Given the description of an element on the screen output the (x, y) to click on. 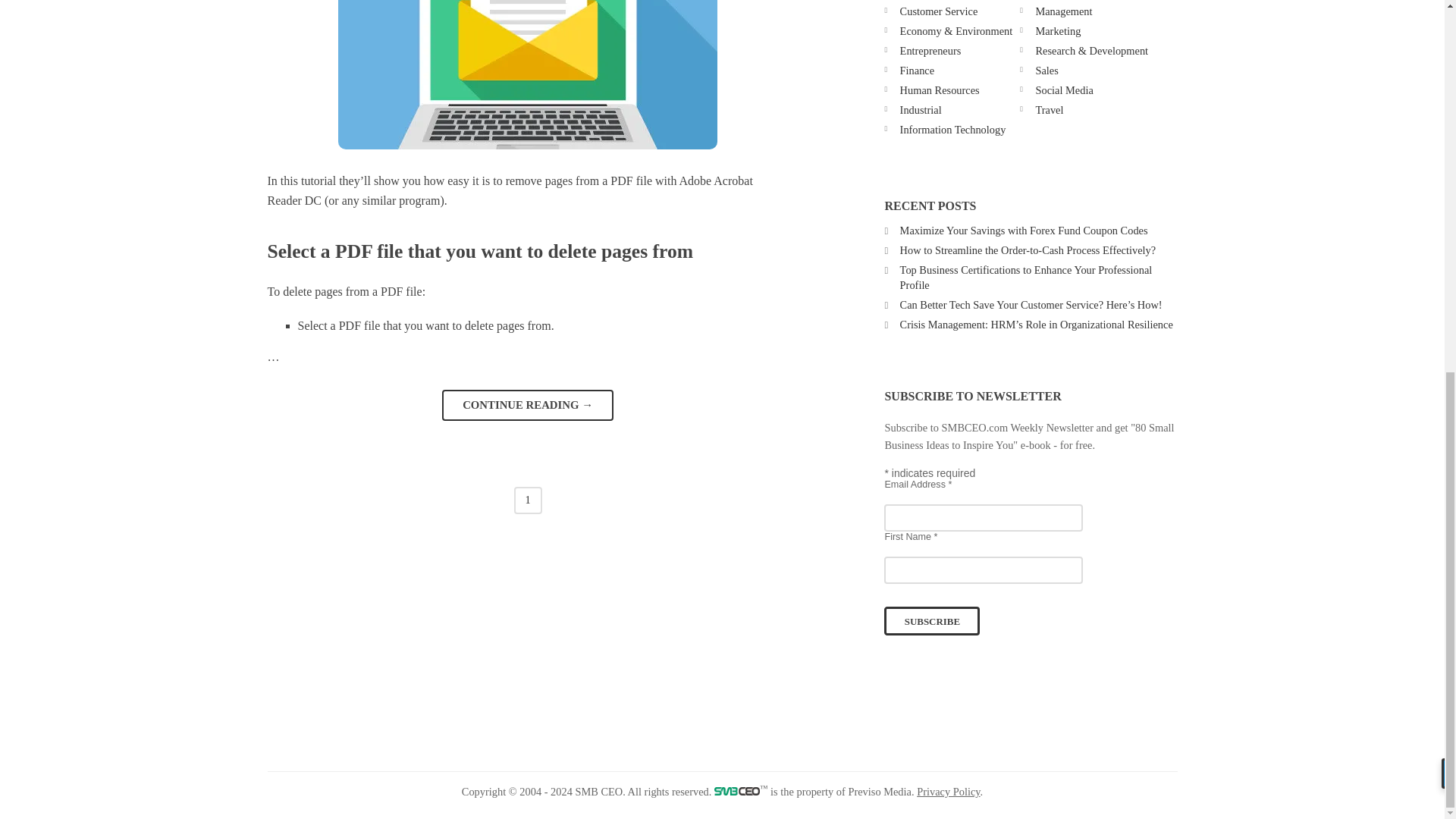
Subscribe (931, 620)
How to Streamline the Order-to-Cash Process Effectively? (1027, 250)
Management (1063, 10)
Entrepreneurs (929, 50)
Industrial (920, 110)
Information Technology (952, 129)
Sales (1046, 70)
Human Resources (939, 90)
Subscribe (931, 620)
1 (527, 500)
Customer Service (938, 10)
Maximize Your Savings with Forex Fund Coupon Codes (1023, 230)
Travel (1048, 110)
Finance (916, 70)
